Given the description of an element on the screen output the (x, y) to click on. 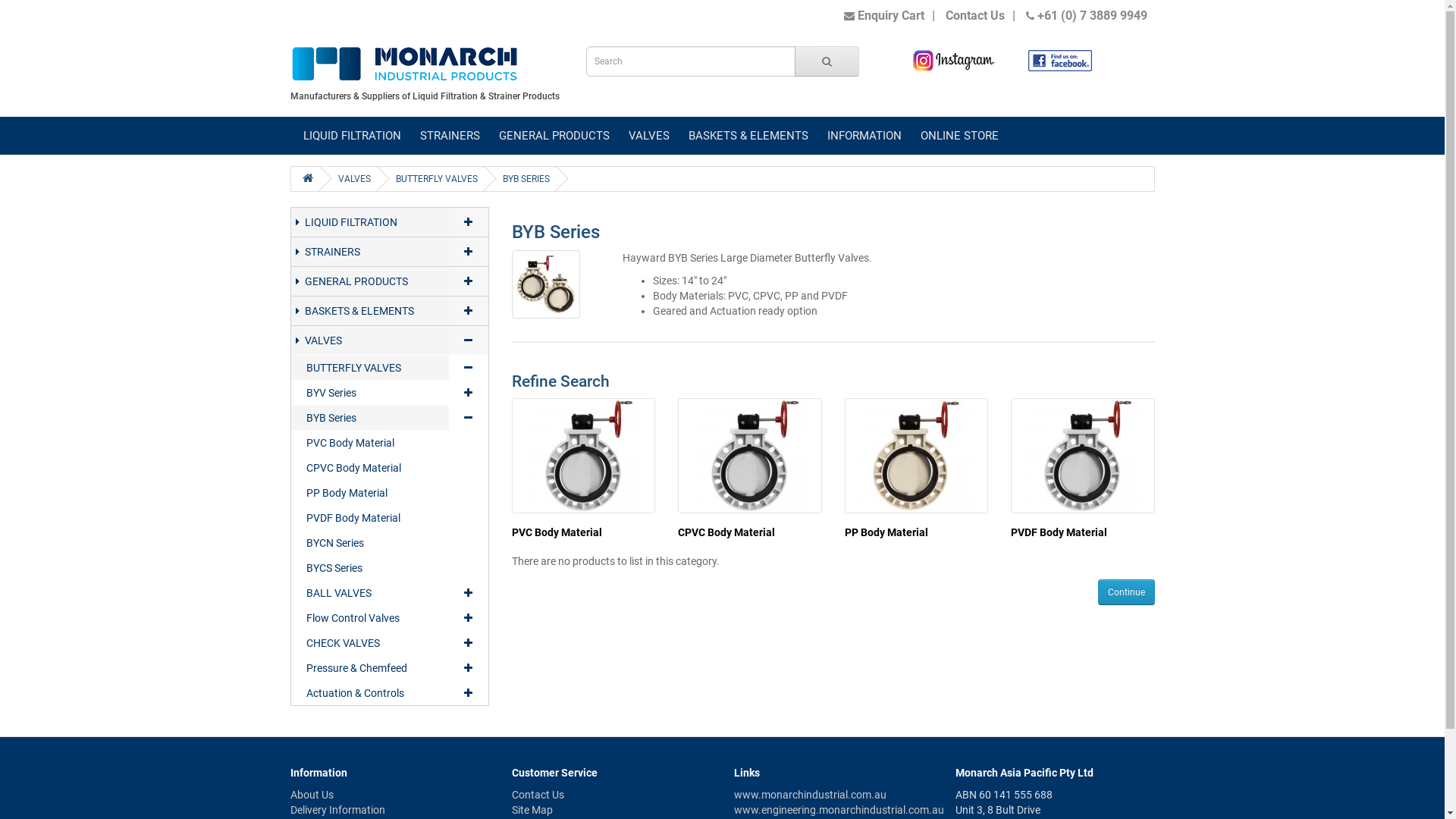
About Us Element type: text (310, 794)
CPVC Body Material Element type: text (726, 532)
PVC Body Material Element type: text (556, 532)
Monarch Industrial Products | Filters and Strainers Element type: hover (403, 65)
LIQUID FILTRATION Element type: text (369, 221)
PP Body Material Element type: hover (915, 455)
GENERAL PRODUCTS Element type: text (369, 280)
Pressure & Chemfeed Element type: text (369, 667)
Actuation & Controls Element type: text (369, 692)
STRAINERS Element type: text (369, 251)
VALVES Element type: text (647, 135)
ONLINE STORE Element type: text (959, 135)
Flow Control Valves Element type: text (369, 617)
BYCN Series Element type: text (390, 542)
BASKETS & ELEMENTS Element type: text (369, 310)
PVDF Body Material Element type: text (1058, 532)
Monarch Facebook Element type: hover (1060, 60)
BYB Series Element type: text (369, 417)
www.engineering.monarchindustrial.com.au Element type: text (839, 809)
Contact Us Element type: text (974, 15)
PVDF Body Material Element type: text (390, 517)
BUTTERFLY VALVES Element type: text (369, 367)
PP Body Material Element type: text (390, 492)
CPVC Body Material Element type: text (390, 467)
LIQUID FILTRATION Element type: text (352, 135)
Continue Element type: text (1126, 592)
BUTTERFLY VALVES Element type: text (436, 178)
Delivery Information Element type: text (336, 809)
Enquiry Cart Element type: text (883, 15)
INFORMATION Element type: text (863, 135)
BALL VALVES Element type: text (369, 592)
VALVES Element type: text (369, 340)
GENERAL PRODUCTS Element type: text (553, 135)
CHECK VALVES Element type: text (369, 642)
VALVES Element type: text (354, 178)
PVDF Body Material Element type: hover (1082, 455)
PVC Body Material Element type: hover (583, 455)
www.monarchindustrial.com.au Element type: text (810, 794)
BYV Series Element type: text (369, 392)
BASKETS & ELEMENTS Element type: text (748, 135)
Monarch Instagram Element type: hover (952, 60)
BYB Series Element type: hover (545, 284)
PP Body Material Element type: text (886, 532)
BYB SERIES Element type: text (525, 178)
BYCS Series Element type: text (390, 567)
STRAINERS Element type: text (450, 135)
CPVC Body Material Element type: hover (749, 455)
Site Map Element type: text (531, 809)
Contact Us Element type: text (537, 794)
PVC Body Material Element type: text (390, 442)
